Given the description of an element on the screen output the (x, y) to click on. 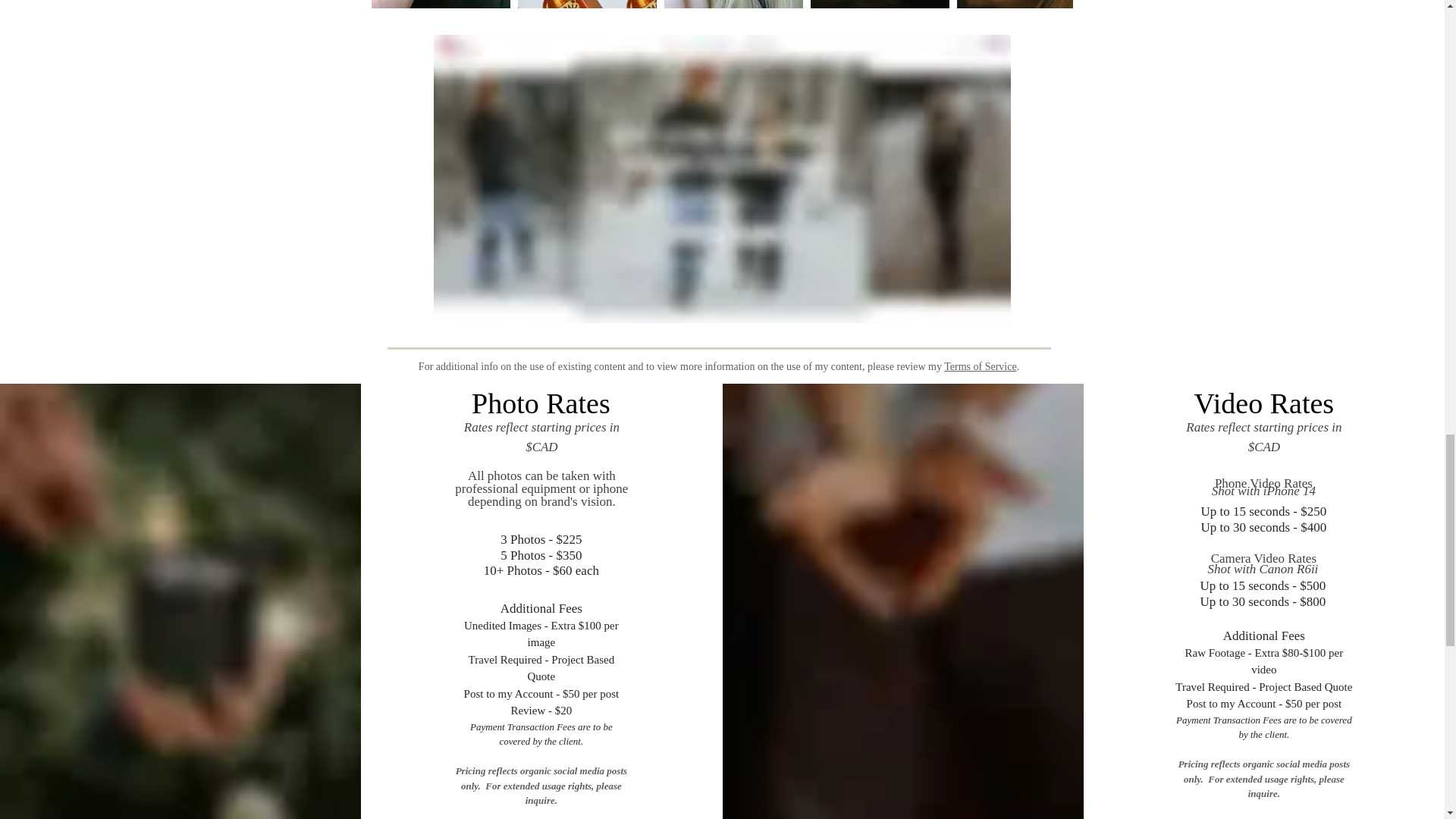
Terms of Service (979, 366)
